Given the description of an element on the screen output the (x, y) to click on. 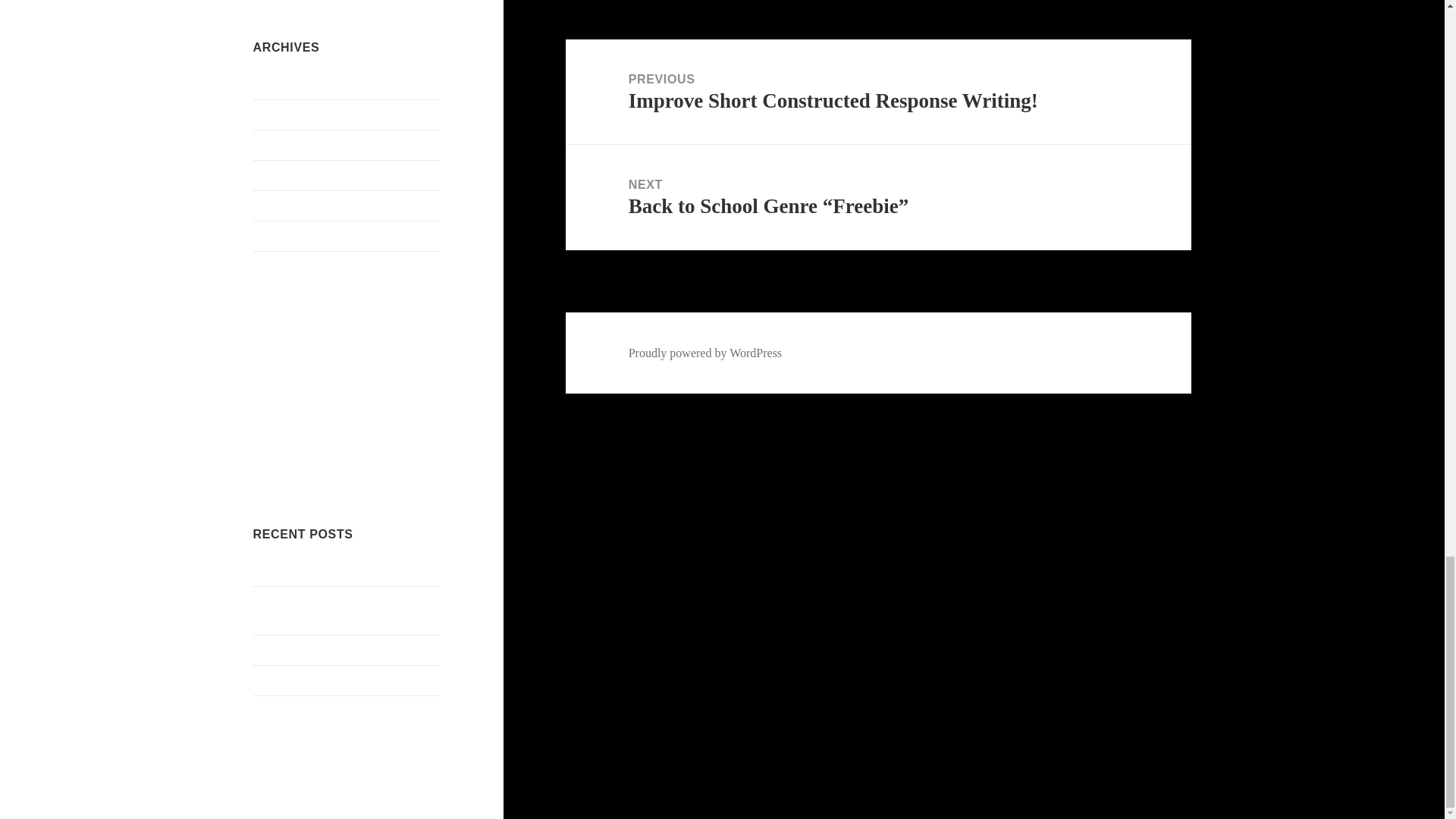
What A Game Changer This Is! (329, 570)
April 2016 (279, 235)
July 2016 (277, 144)
Proudly powered by WordPress (704, 353)
January 2016 (285, 265)
June 2023 (277, 113)
There Has To Be A Better Way! (330, 649)
May 2016 (277, 205)
